Given the description of an element on the screen output the (x, y) to click on. 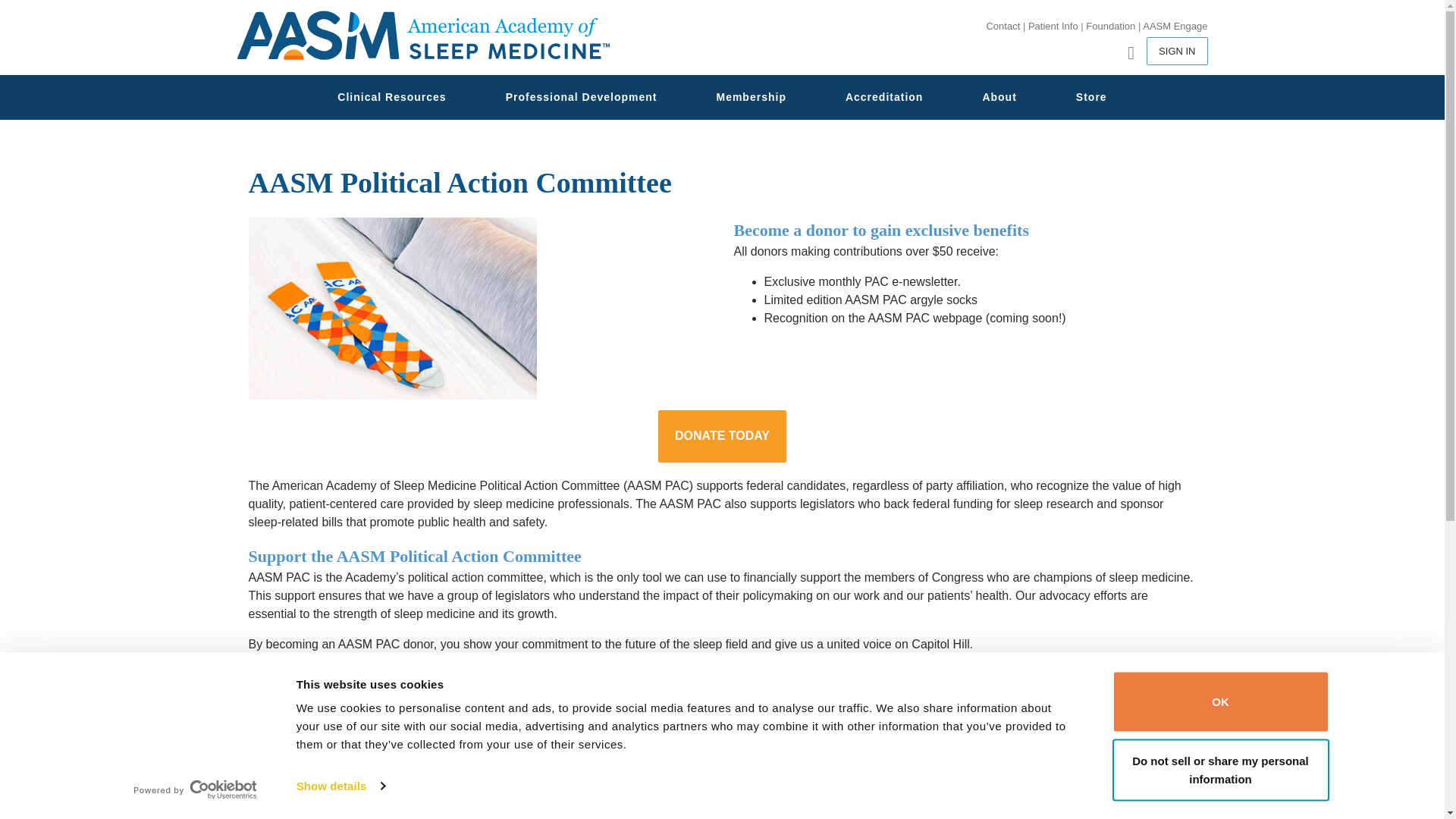
Show details (340, 785)
